Given the description of an element on the screen output the (x, y) to click on. 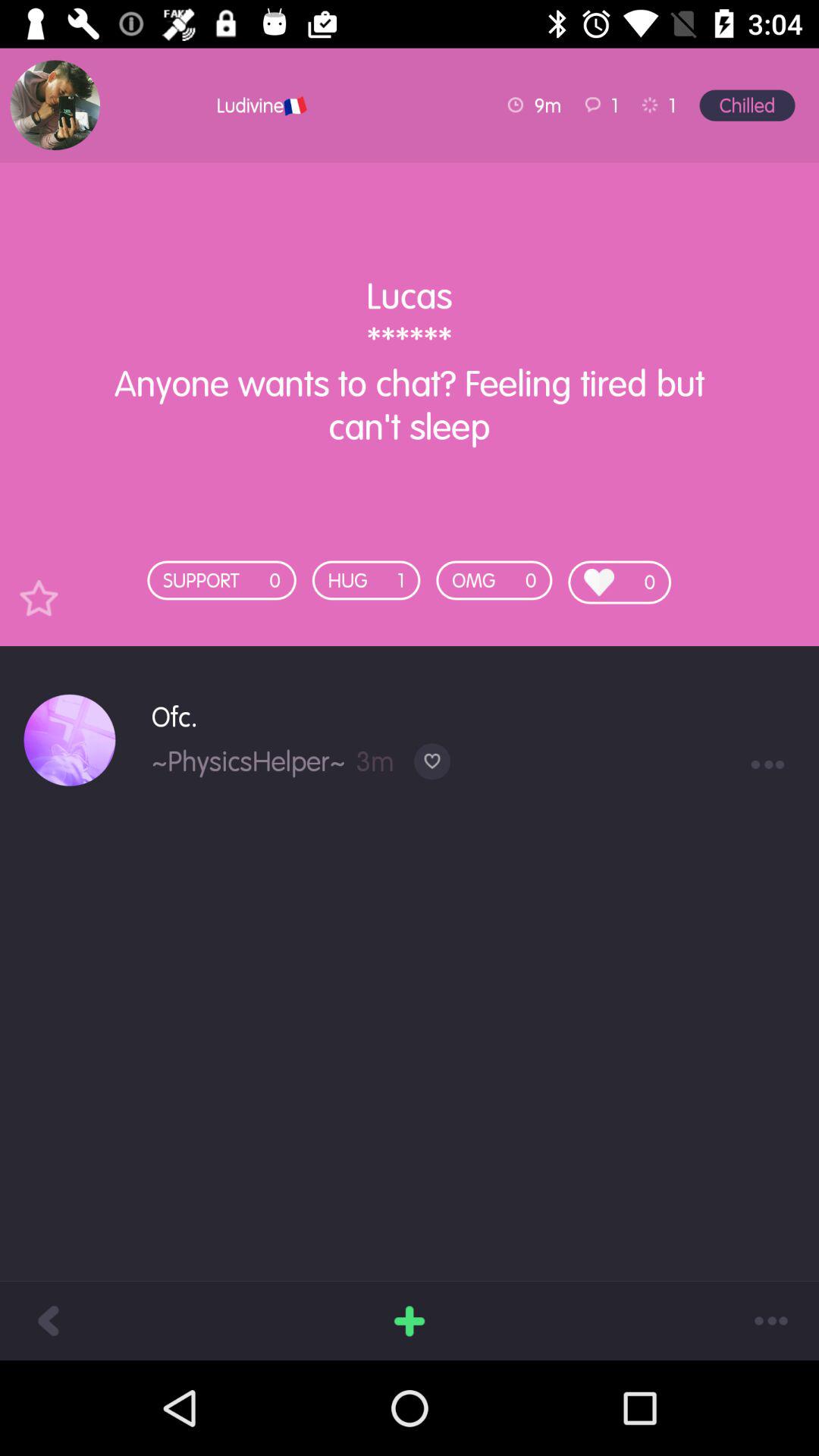
press the icon above lucas anyone wants item (215, 105)
